Given the description of an element on the screen output the (x, y) to click on. 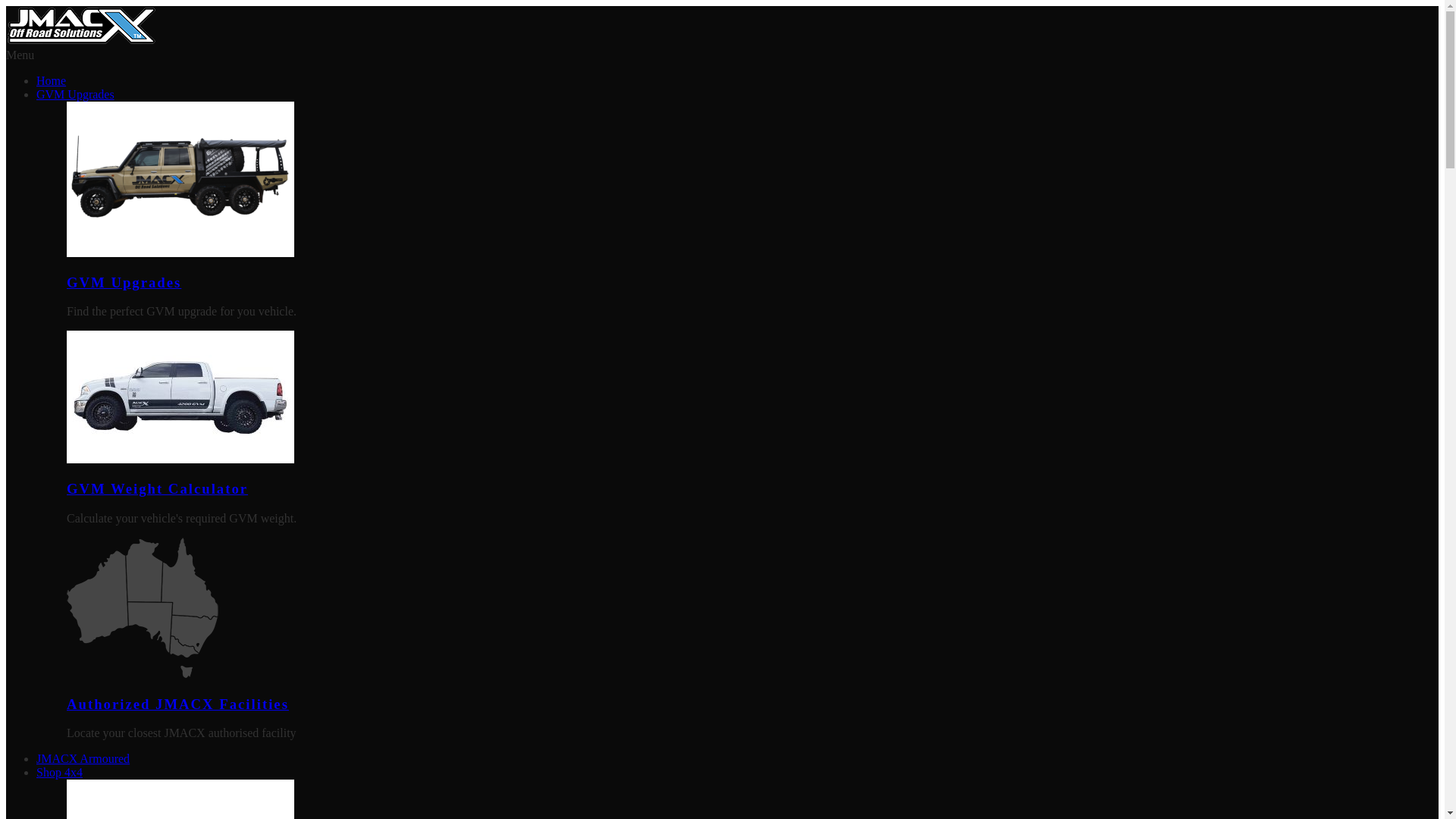
Authorized JMACX Facilities Element type: text (177, 704)
Skip to content Element type: text (5, 5)
JMACX Armoured Element type: text (82, 758)
Shop 4x4 Element type: text (59, 771)
GVM Weight Calculator Element type: text (156, 488)
Home Element type: text (50, 80)
GVM Upgrades Element type: text (123, 282)
GVM Upgrades Element type: text (75, 93)
